Given the description of an element on the screen output the (x, y) to click on. 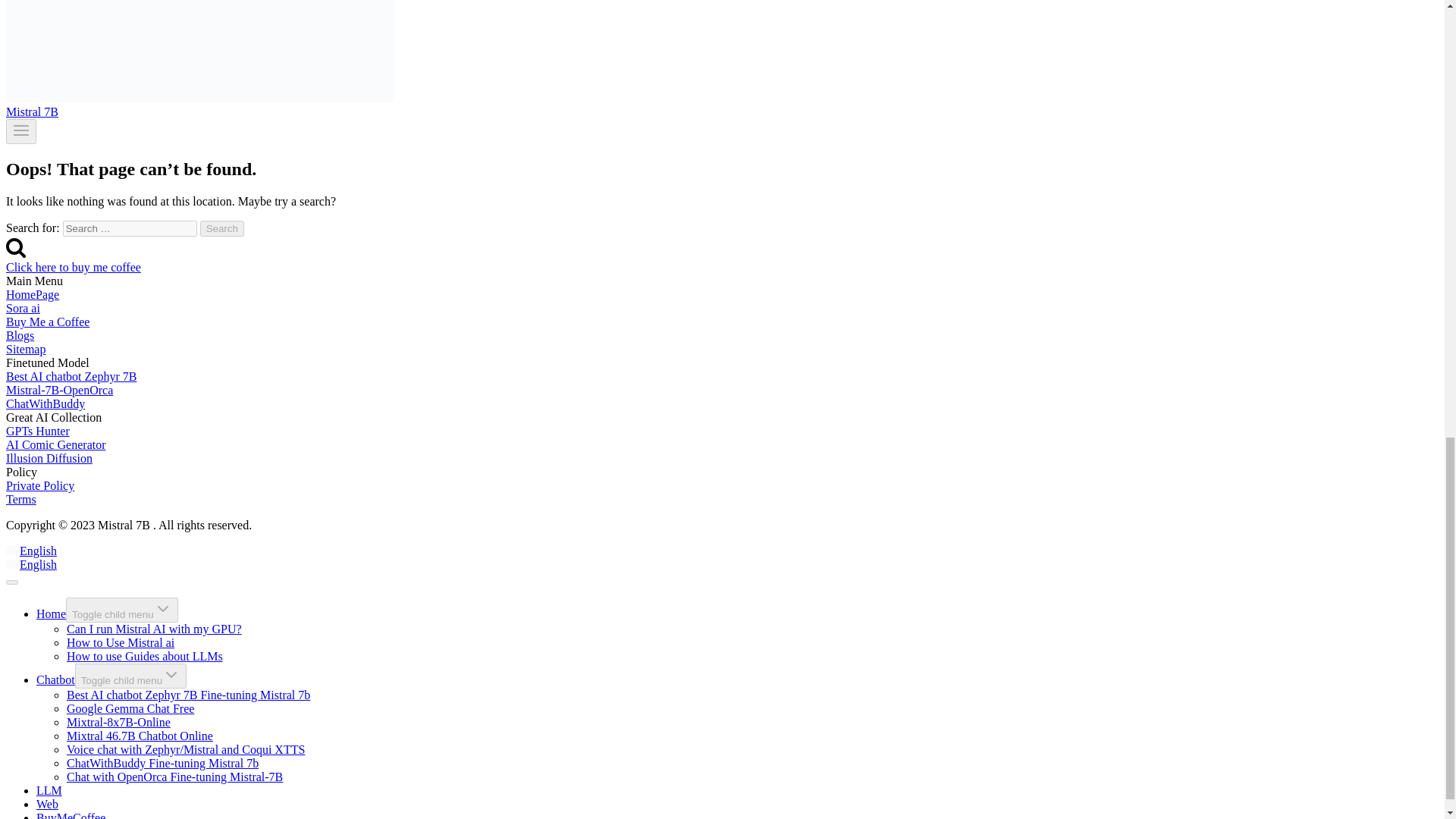
Search (222, 228)
Private Policy (39, 485)
English (30, 550)
Sora ai (22, 308)
ChatWithBuddy (44, 403)
Expand (162, 608)
Toggle child menuExpand (121, 609)
HomePage (32, 294)
Toggle Menu (20, 130)
Search (15, 246)
